Given the description of an element on the screen output the (x, y) to click on. 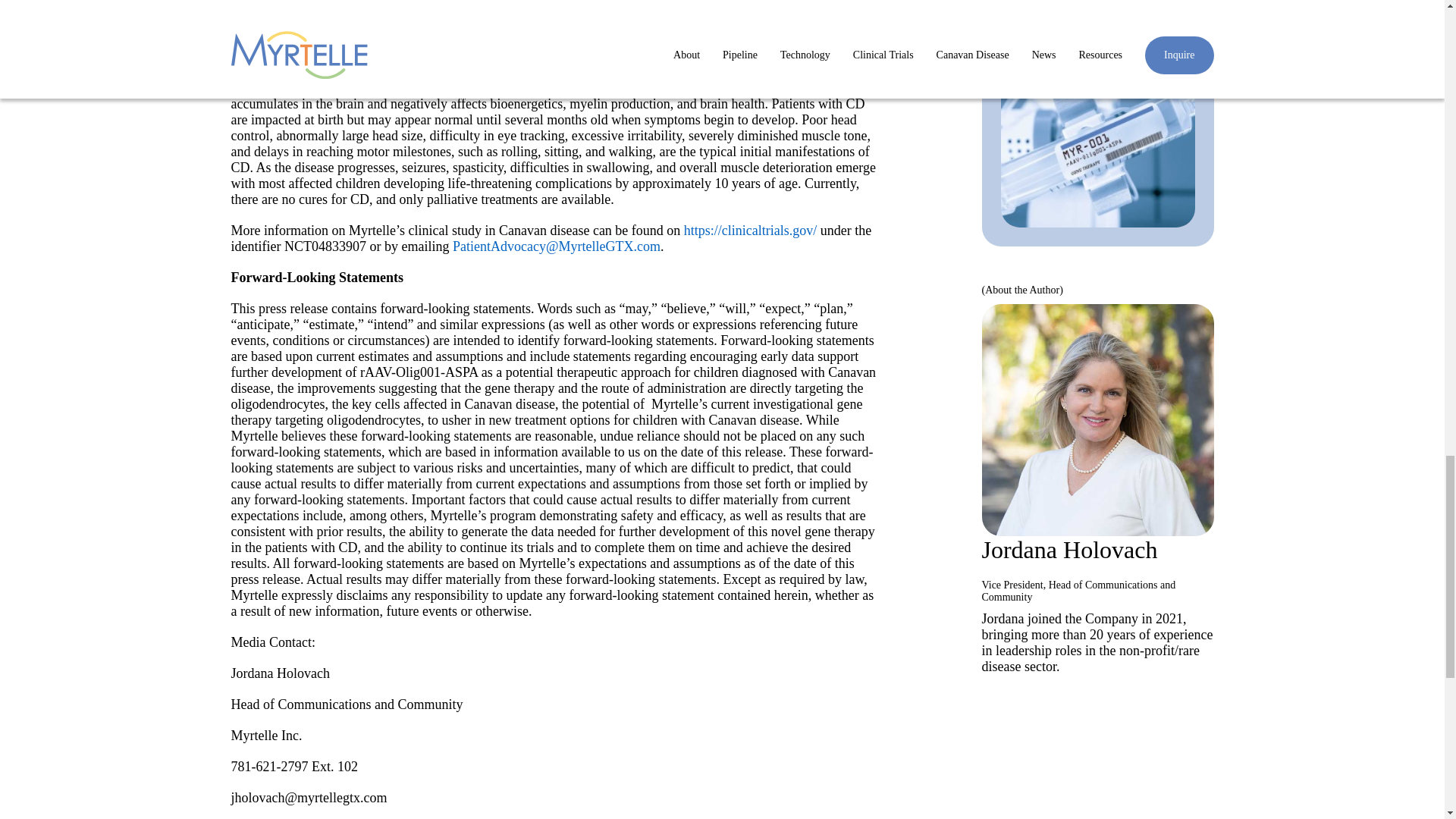
Download (1039, 9)
